Given the description of an element on the screen output the (x, y) to click on. 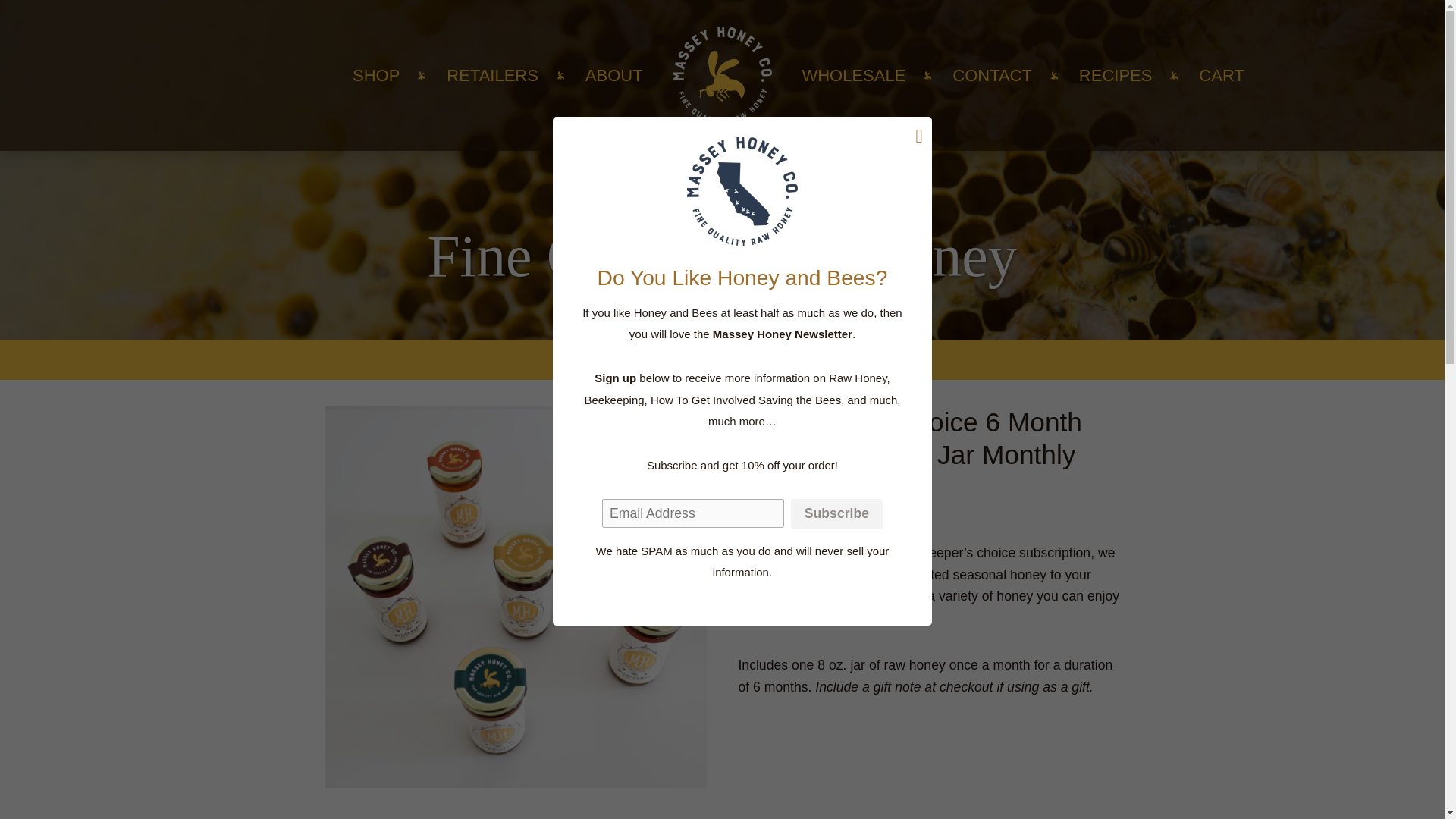
RECIPES (1115, 75)
WHOLESALE (853, 75)
Subscribe (836, 513)
ABOUT (614, 75)
SHOP (375, 75)
CART (1221, 75)
RETAILERS (492, 75)
CONTACT (992, 75)
